Given the description of an element on the screen output the (x, y) to click on. 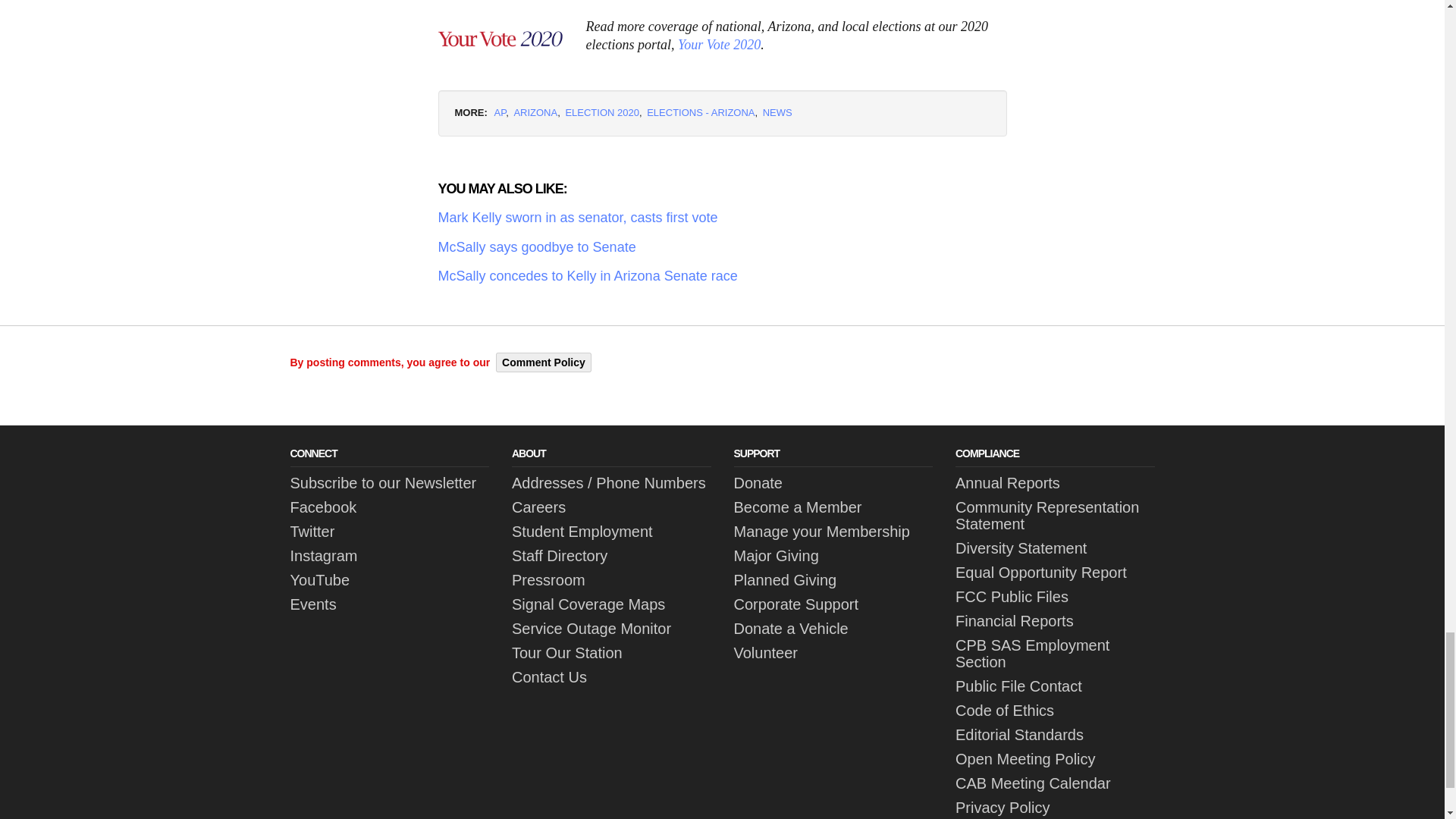
McSally concedes to Kelly in Arizona Senate race (722, 276)
McSally says goodbye to Senate (722, 247)
Mark Kelly sworn in as senator, casts first vote (722, 218)
